Given the description of an element on the screen output the (x, y) to click on. 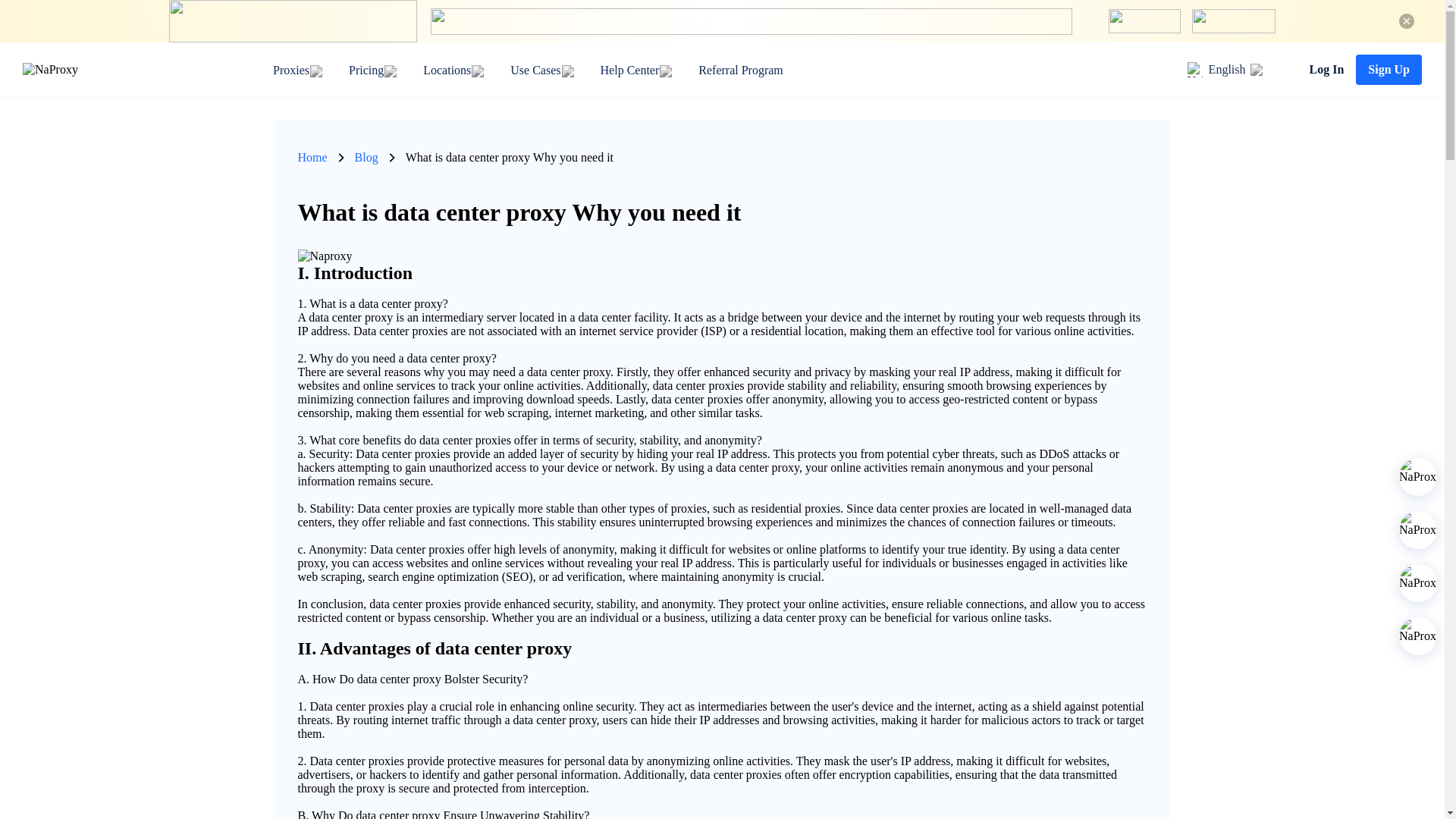
Referral Program (740, 69)
Sign Up (1388, 69)
Help Center (629, 69)
Log In (1326, 69)
Use Cases (535, 69)
